Given the description of an element on the screen output the (x, y) to click on. 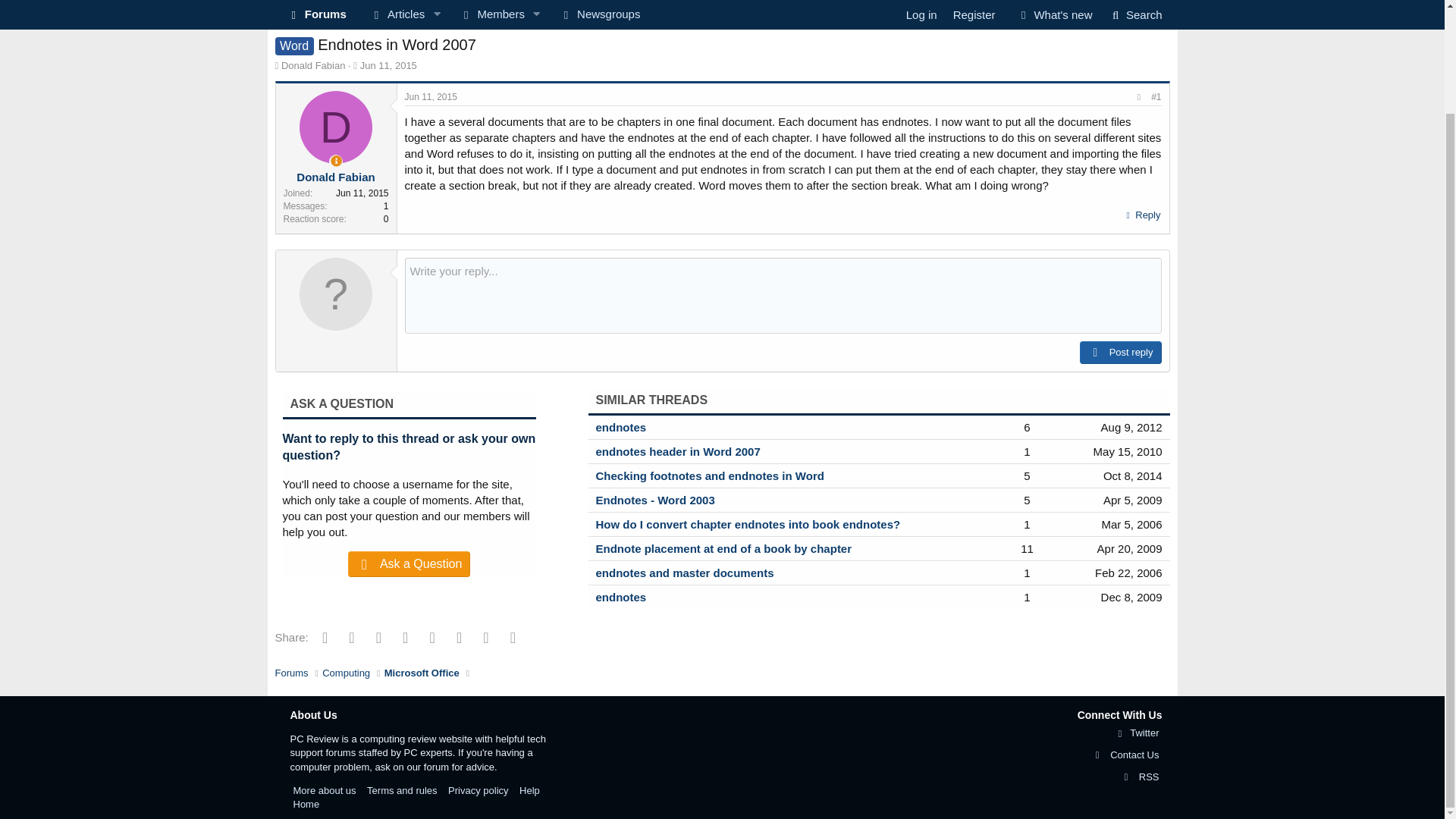
Jun 11, 2015 at 8:11 PM (430, 96)
Aug 9, 2012 at 8:36 AM (1130, 427)
Forums (462, 9)
Reply, quoting this message (291, 23)
Apr 5, 2009 at 2:08 AM (1141, 215)
Computing (720, 20)
Oct 8, 2014 at 7:59 AM (1132, 499)
Donald Fabian (345, 23)
Jun 11, 2015 (1132, 475)
Microsoft Office (313, 65)
Jun 11, 2015 at 8:11 PM (387, 65)
Feb 22, 2006 at 9:56 PM (422, 23)
Post reply (387, 65)
